Given the description of an element on the screen output the (x, y) to click on. 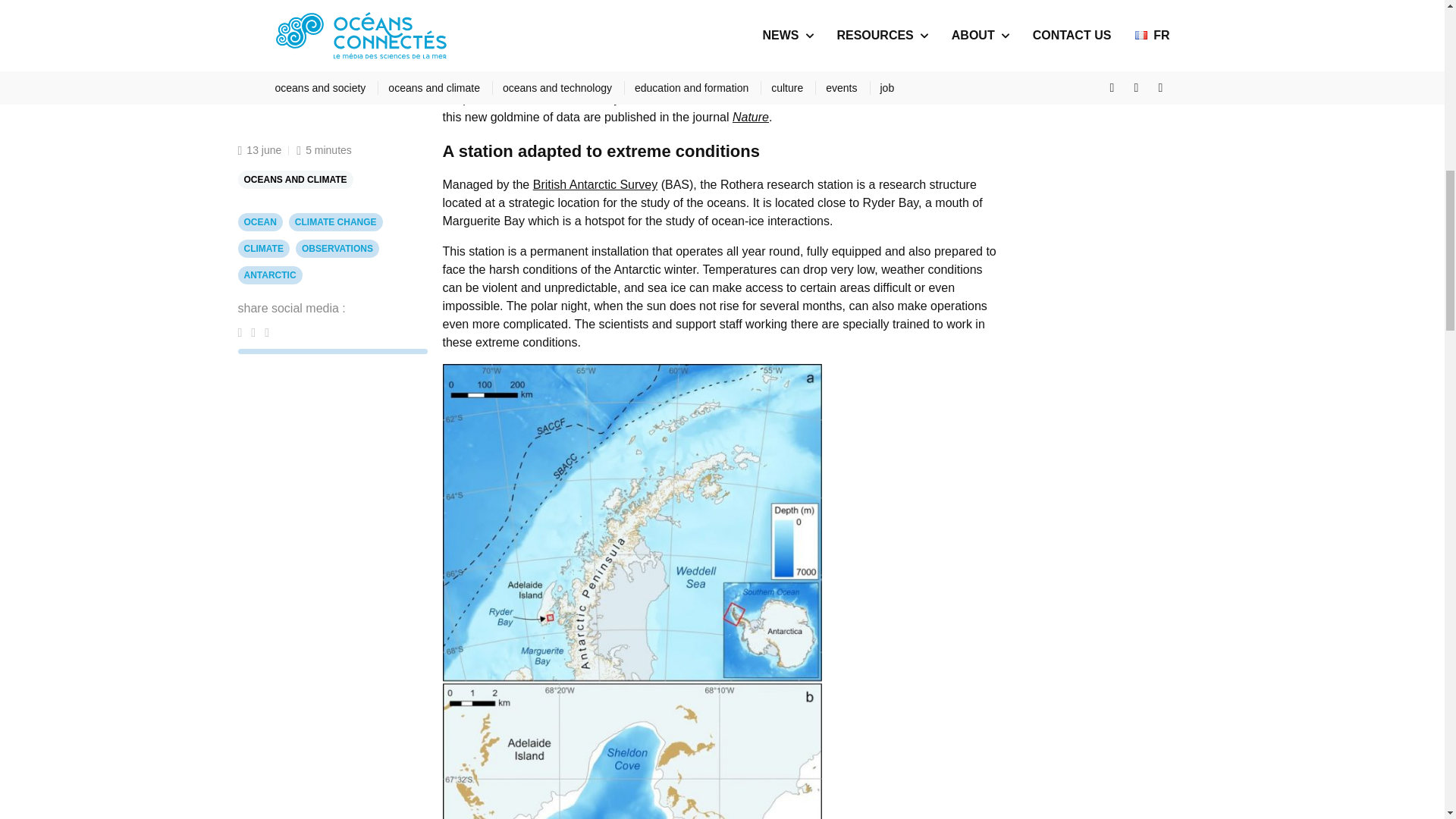
British Antarctic Survey (595, 184)
Nature (750, 116)
Rothera Research Station (886, 43)
